Given the description of an element on the screen output the (x, y) to click on. 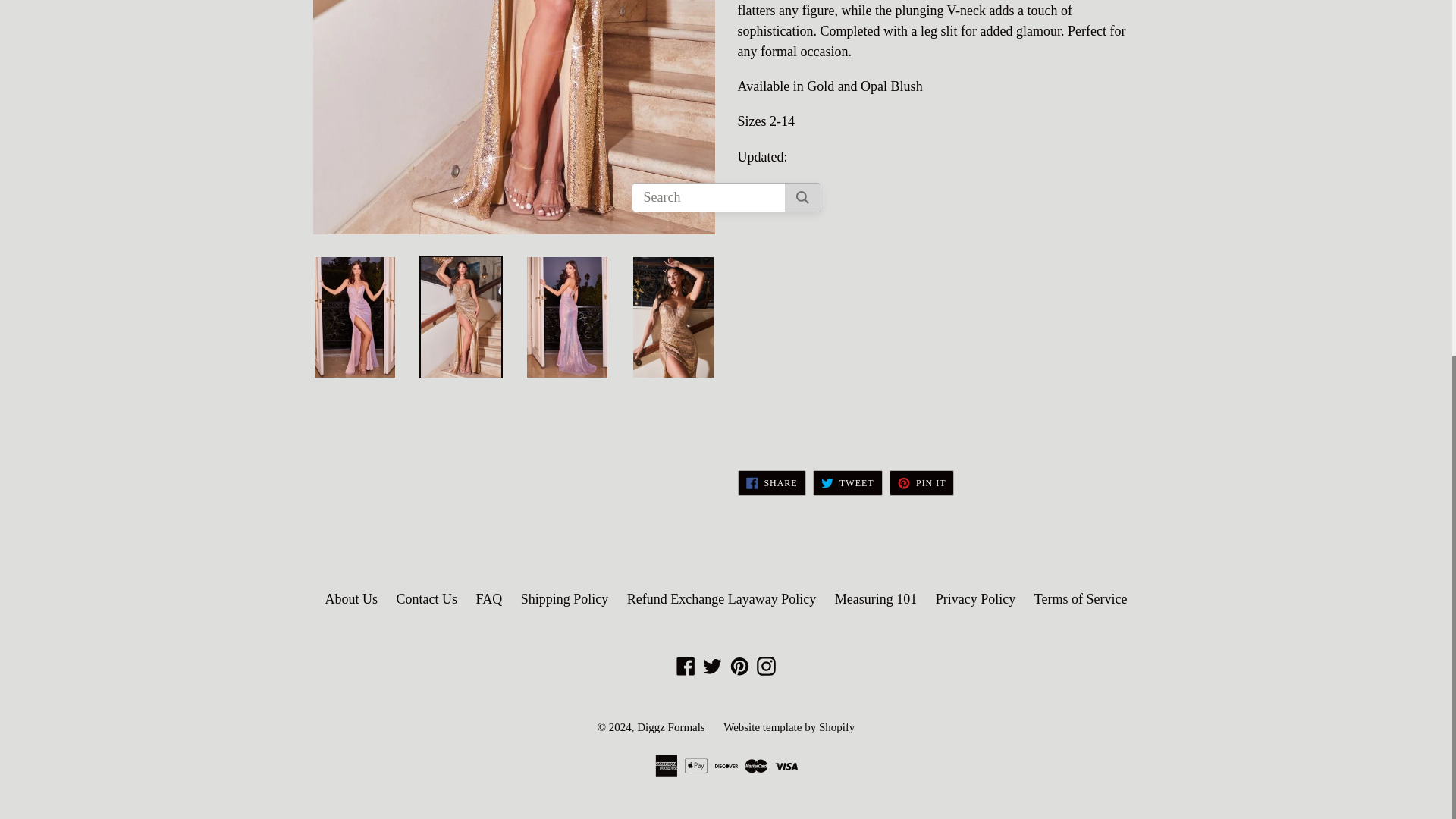
Diggz Formals on Twitter (711, 664)
Pin on Pinterest (921, 483)
Diggz Formals on Instagram (765, 664)
Tweet on Twitter (847, 483)
Diggz Formals on Pinterest (739, 664)
Share on Facebook (770, 483)
Diggz Formals on Facebook (685, 664)
